Given the description of an element on the screen output the (x, y) to click on. 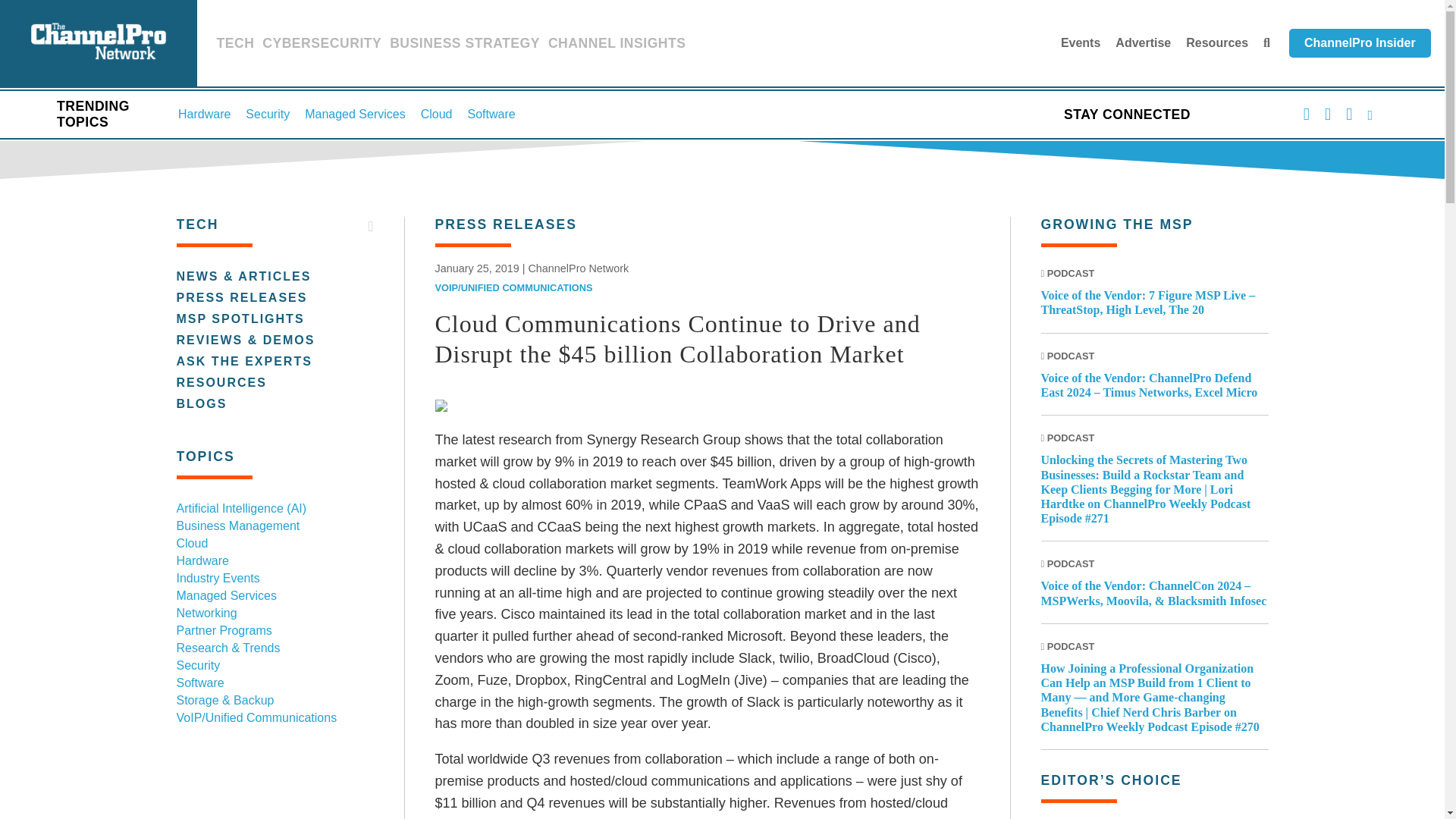
BUSINESS STRATEGY (464, 45)
Resources (1216, 42)
Posts by ChannelPro Network (577, 268)
ChannelPro Insider (1359, 42)
Advertise (1142, 42)
ChannelPro Insider (1359, 42)
CHANNEL INSIGHTS (616, 45)
CYBERSECURITY (322, 45)
Events (1080, 42)
